Given the description of an element on the screen output the (x, y) to click on. 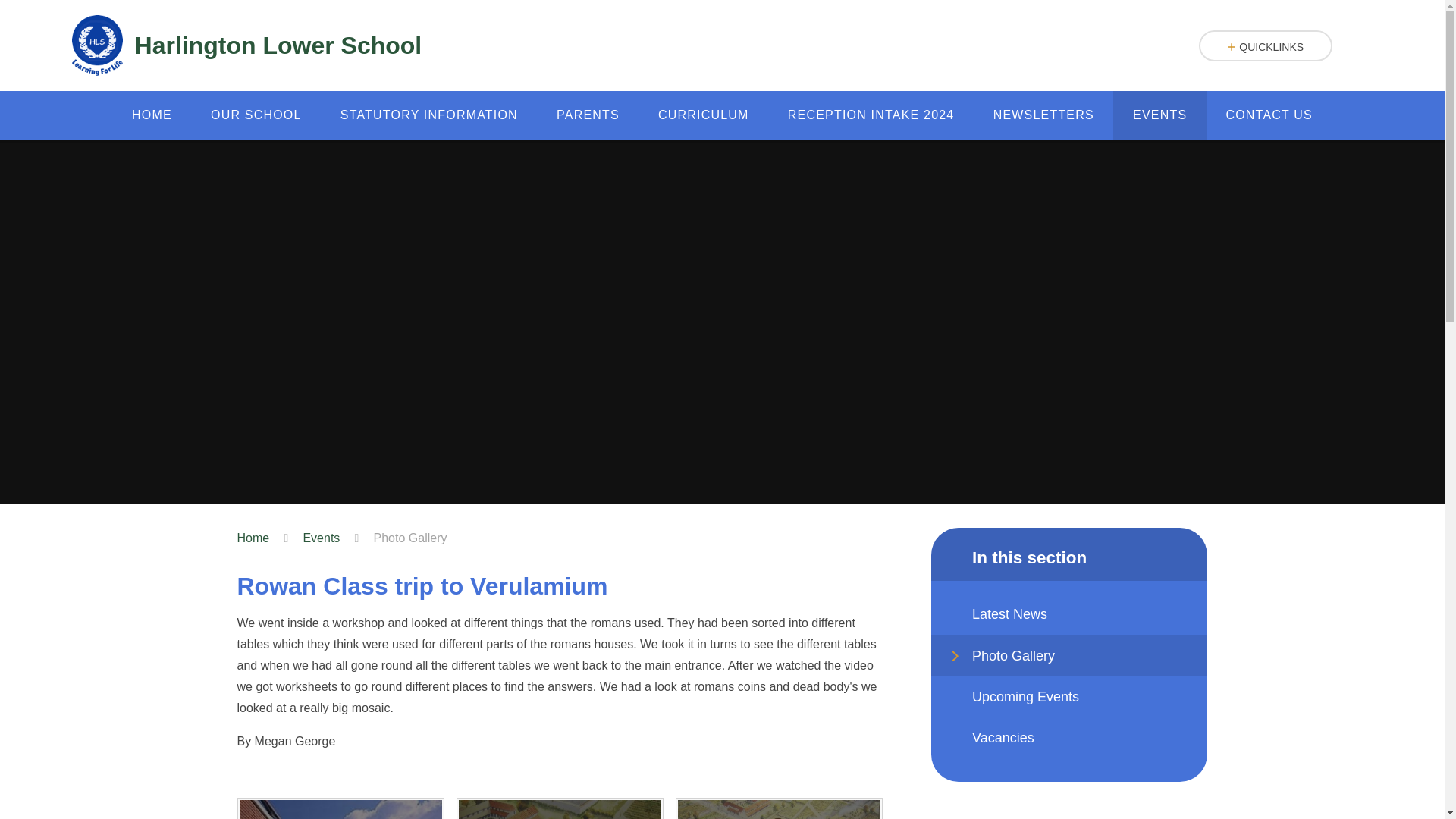
OUR SCHOOL (255, 114)
Harlington Lower School (246, 45)
STATUTORY INFORMATION (428, 114)
HOME (151, 114)
